Given the description of an element on the screen output the (x, y) to click on. 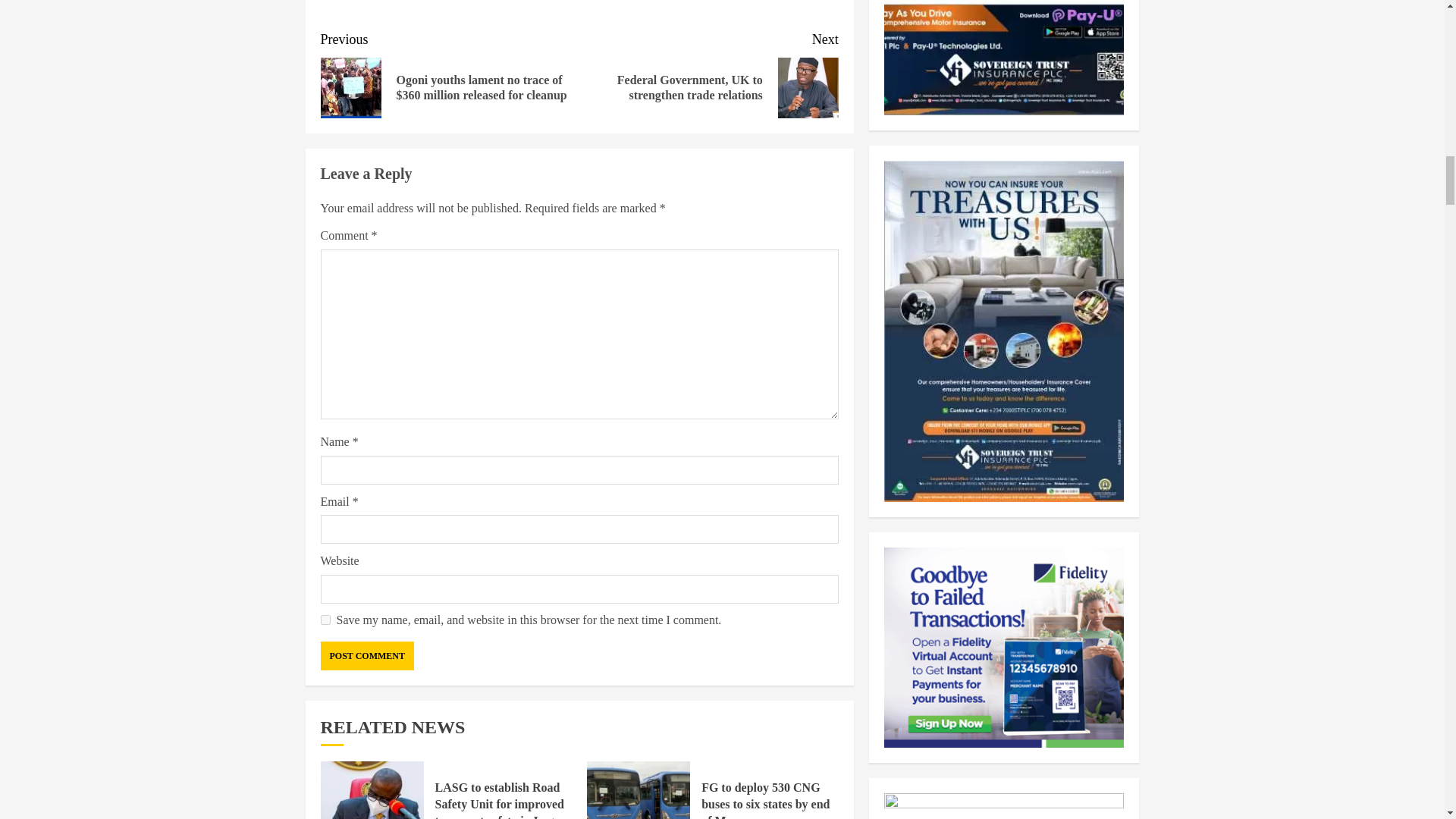
Post Comment (366, 655)
LinkedIn (499, 4)
Twitter (448, 4)
yes (325, 619)
WhatsApp (345, 4)
Email (551, 4)
Facebook (397, 4)
